Given the description of an element on the screen output the (x, y) to click on. 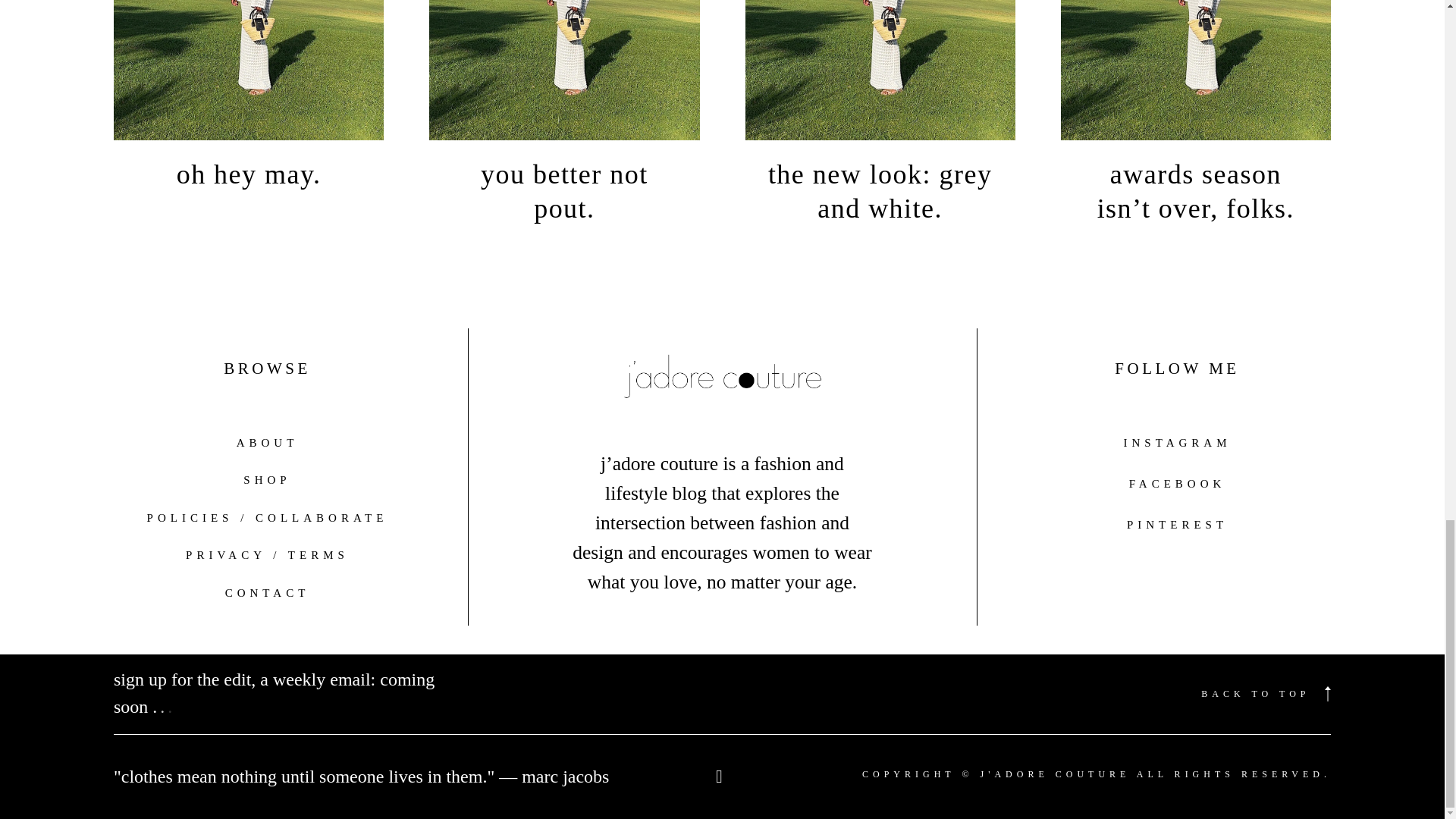
you better not pout. (564, 121)
SHOP (266, 480)
ABOUT (266, 443)
FACEBOOK (1177, 483)
oh hey may. (248, 104)
the new look: grey and white. (879, 121)
CONTACT (267, 593)
INSTAGRAM (1177, 442)
